Given the description of an element on the screen output the (x, y) to click on. 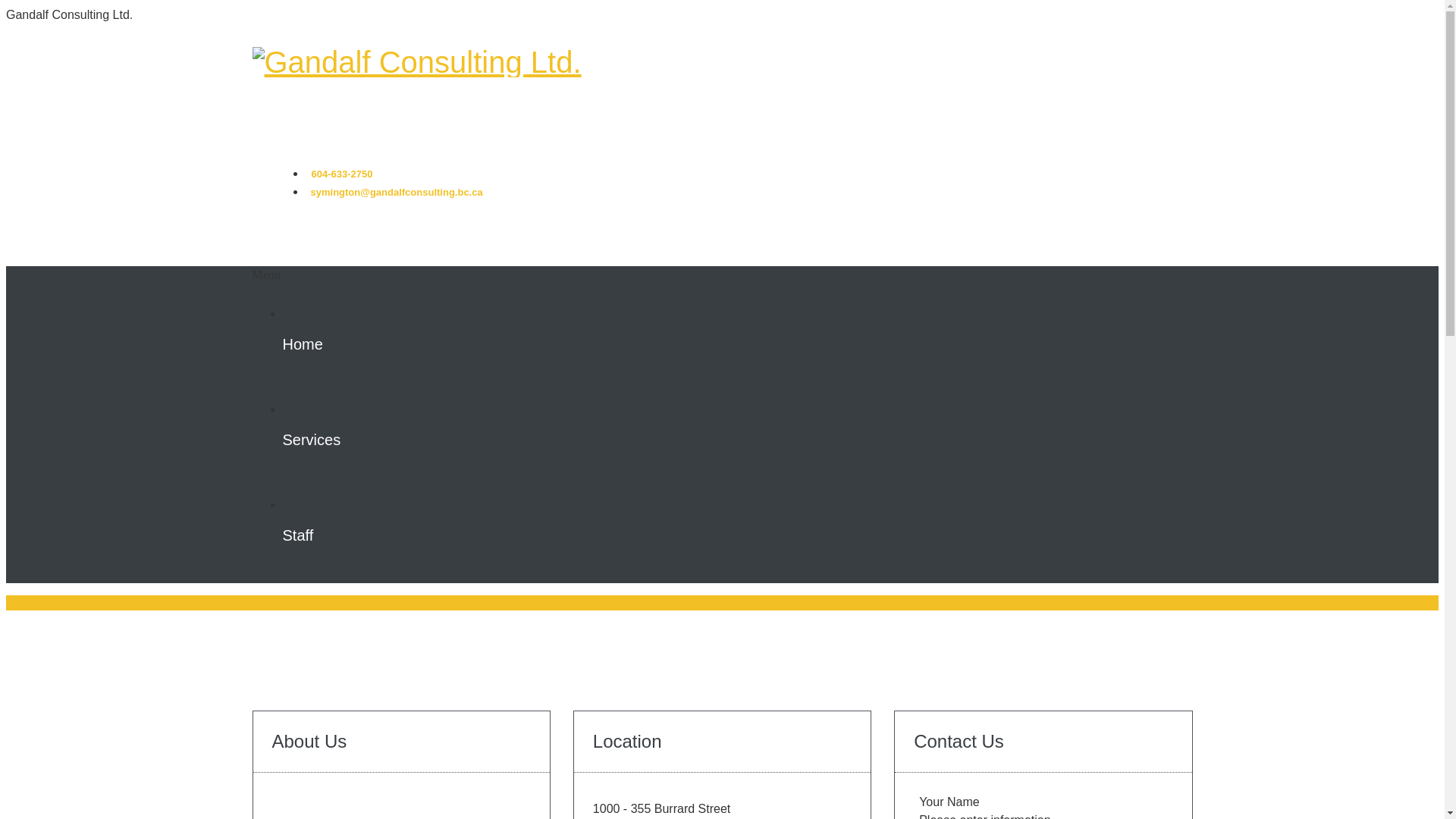
Home Element type: text (737, 345)
Location Element type: text (627, 741)
Go to site home page Element type: hover (415, 62)
Go to site home page Element type: hover (415, 61)
symington@gandalfconsulting.bc.ca Element type: text (397, 192)
Contact Us Element type: text (958, 741)
604-633-2750 Element type: text (342, 174)
Staff Element type: text (737, 536)
About Us Element type: text (308, 741)
Services Element type: text (737, 440)
